Given the description of an element on the screen output the (x, y) to click on. 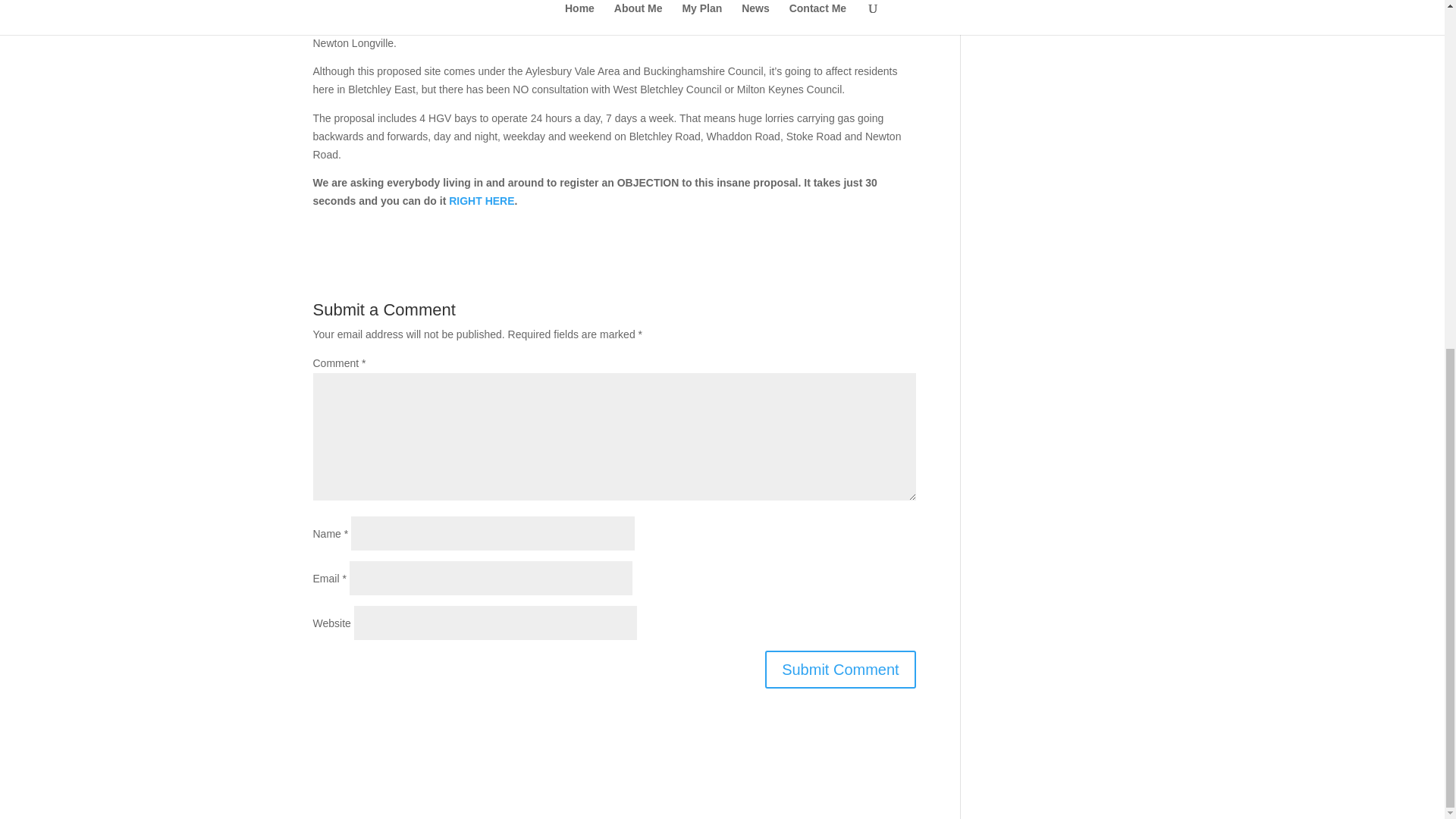
Submit Comment (840, 669)
Submit Comment (840, 669)
RIGHT HERE (480, 200)
